Given the description of an element on the screen output the (x, y) to click on. 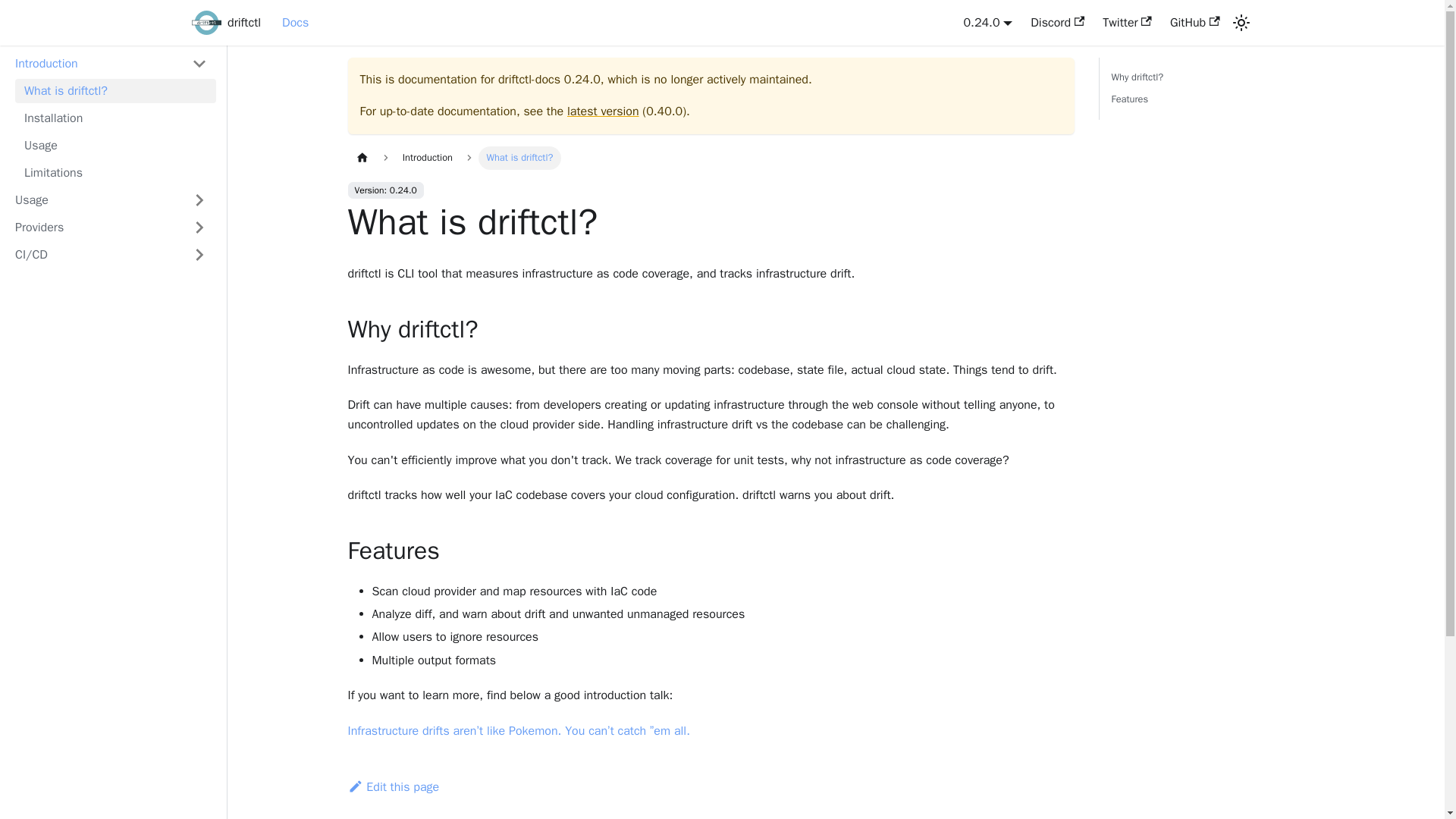
Docs (295, 22)
driftctl (225, 22)
Usage (114, 145)
What is driftctl? (114, 90)
Discord (1057, 22)
Introduction (1210, 88)
Installation (110, 63)
GitHub (114, 118)
0.24.0 (1194, 22)
Twitter (988, 22)
